Given the description of an element on the screen output the (x, y) to click on. 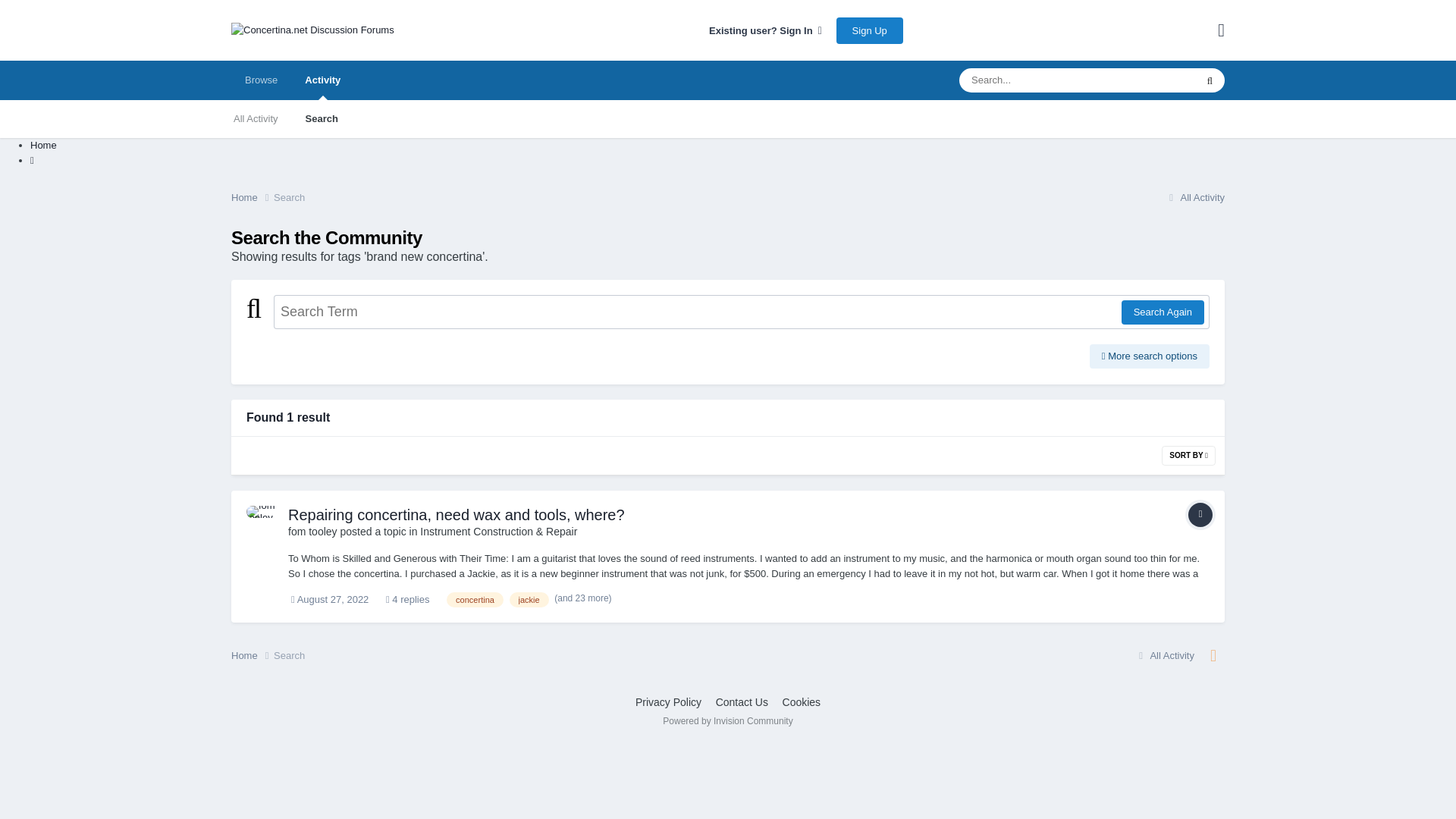
Activity (322, 79)
Home (252, 197)
All Activity (255, 118)
Find other content tagged with 'concertina' (474, 599)
Home (43, 144)
Search (322, 118)
Search Again (1162, 312)
All Activity (1194, 197)
Topic (1200, 514)
Search (288, 197)
Sign Up (868, 29)
Existing user? Sign In   (765, 30)
Go to fom tooley's profile (312, 531)
Find other content tagged with 'jackie' (528, 599)
Browse (261, 79)
